Given the description of an element on the screen output the (x, y) to click on. 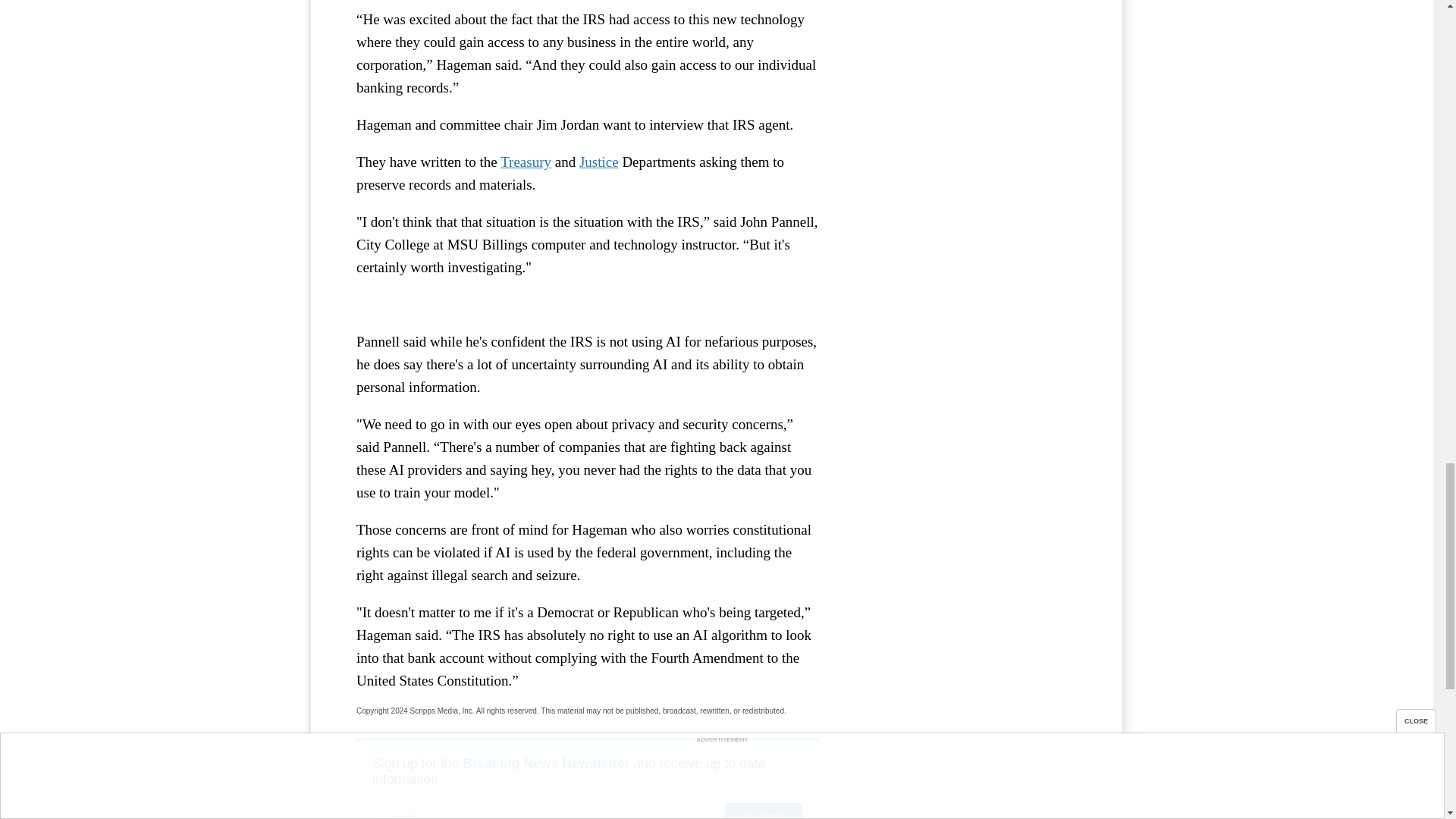
Submit (763, 811)
